Given the description of an element on the screen output the (x, y) to click on. 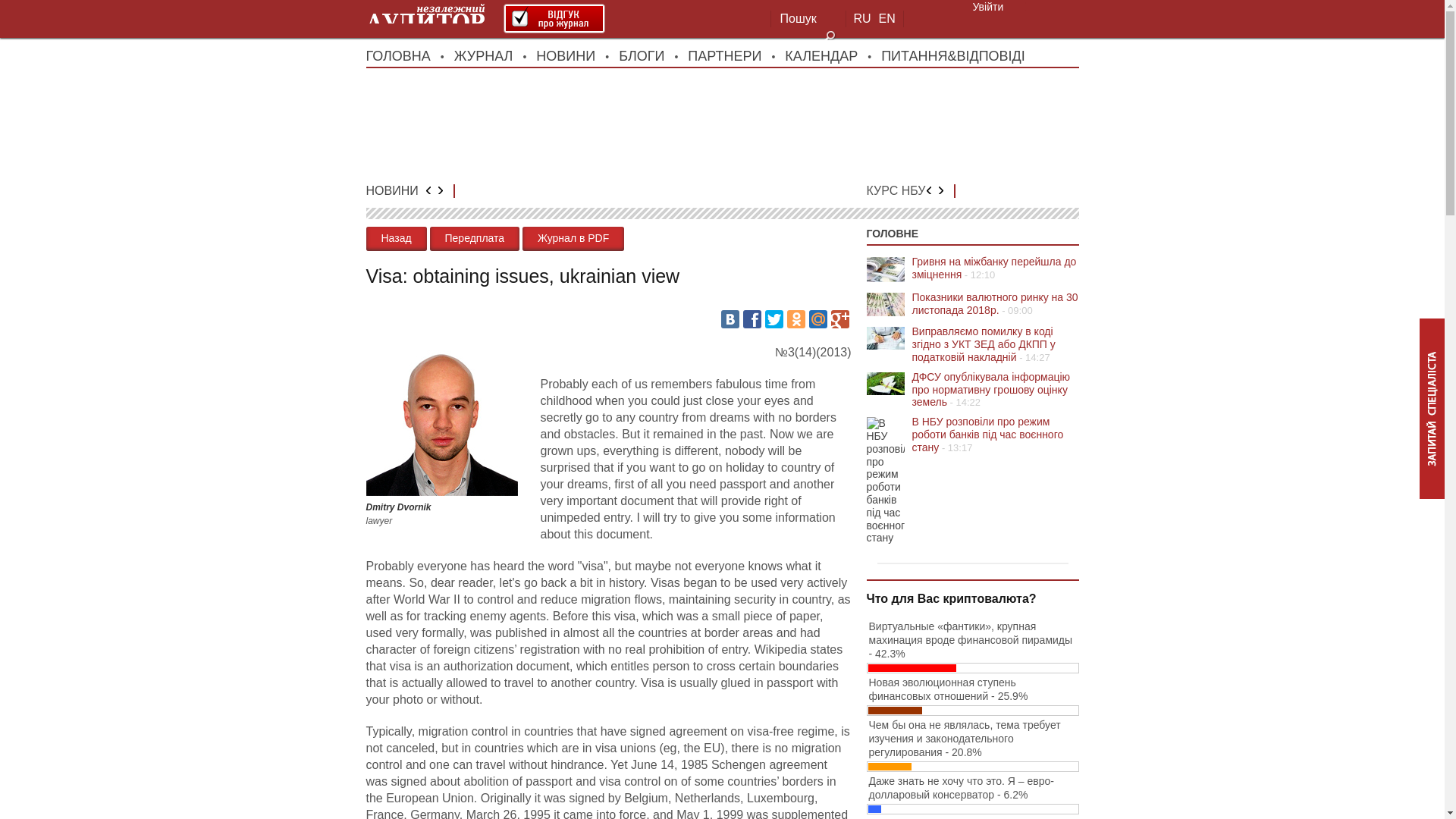
Facebook (751, 319)
Twitter (773, 319)
Google Plus (839, 319)
